Given the description of an element on the screen output the (x, y) to click on. 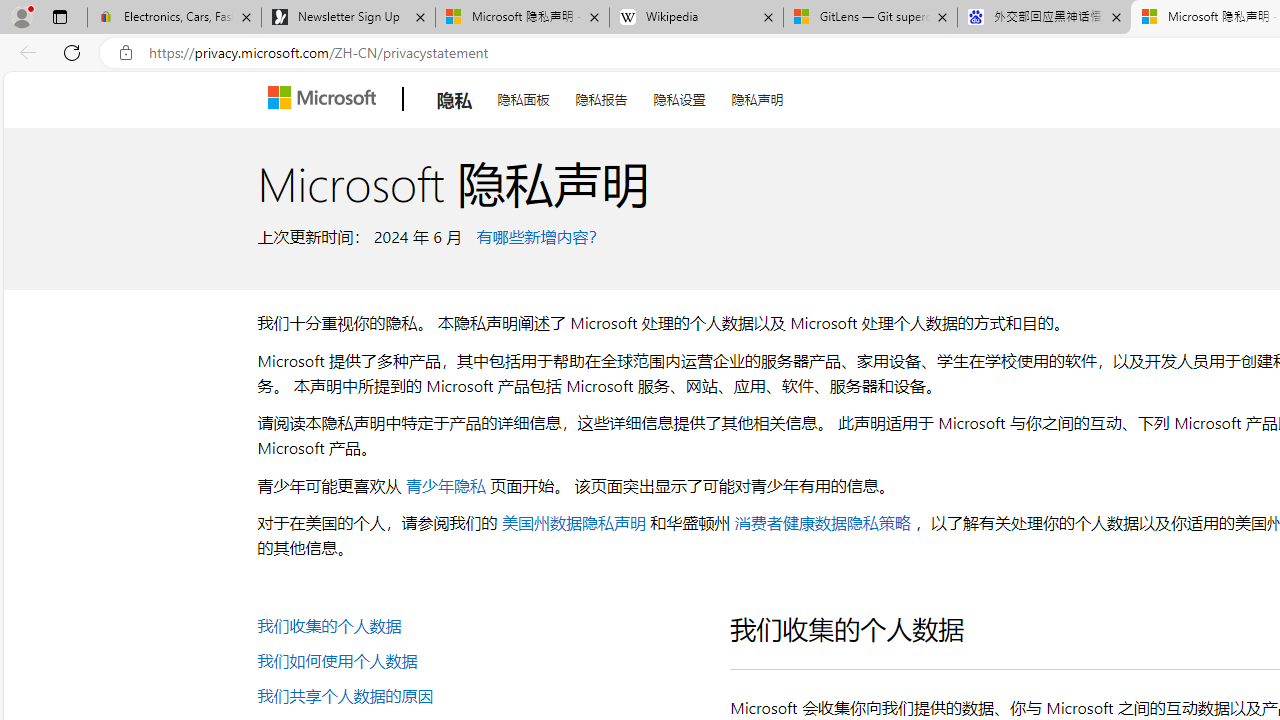
Wikipedia (696, 17)
Electronics, Cars, Fashion, Collectibles & More | eBay (174, 17)
Newsletter Sign Up (348, 17)
